Given the description of an element on the screen output the (x, y) to click on. 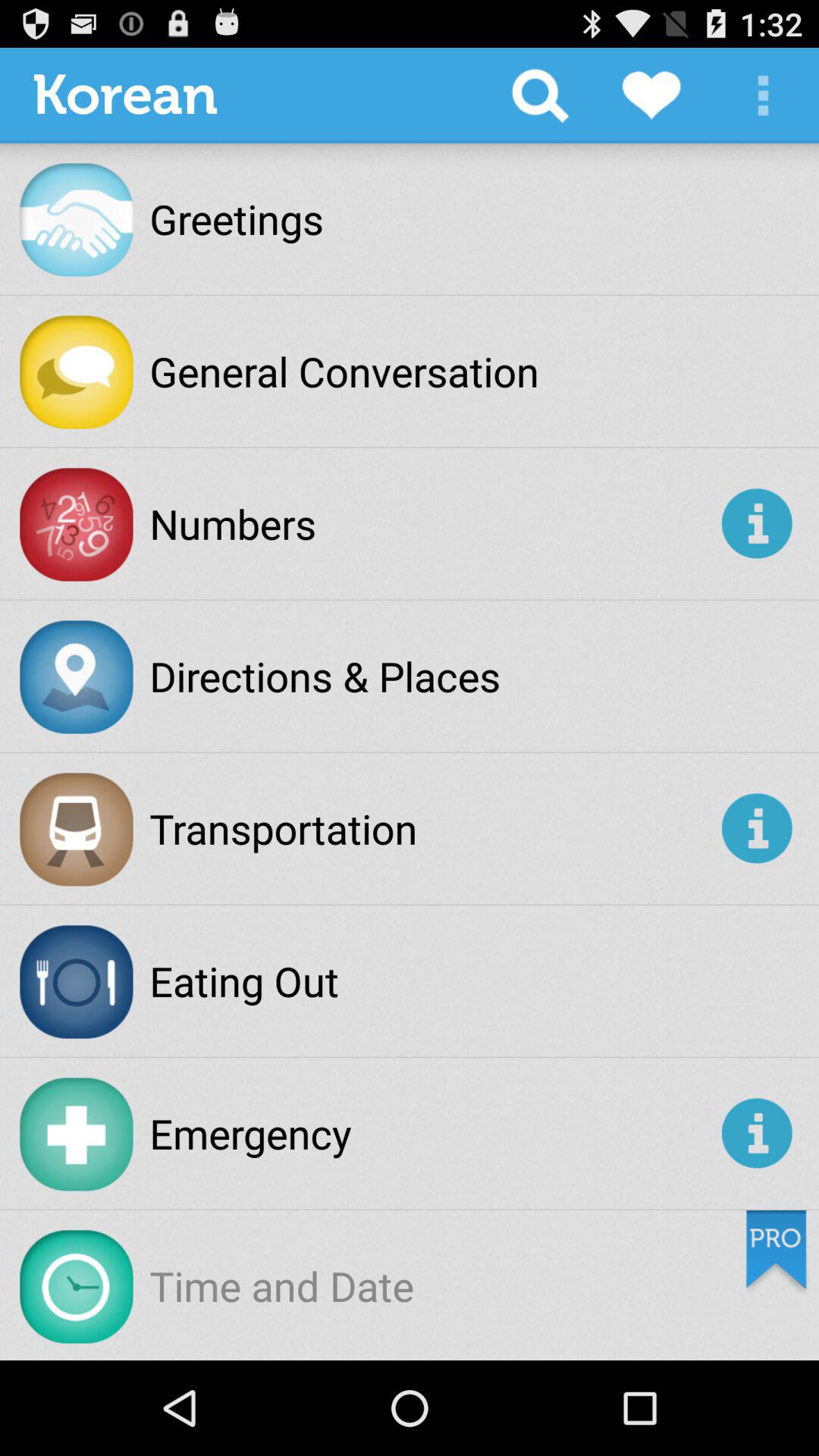
open the eating out item (243, 980)
